Given the description of an element on the screen output the (x, y) to click on. 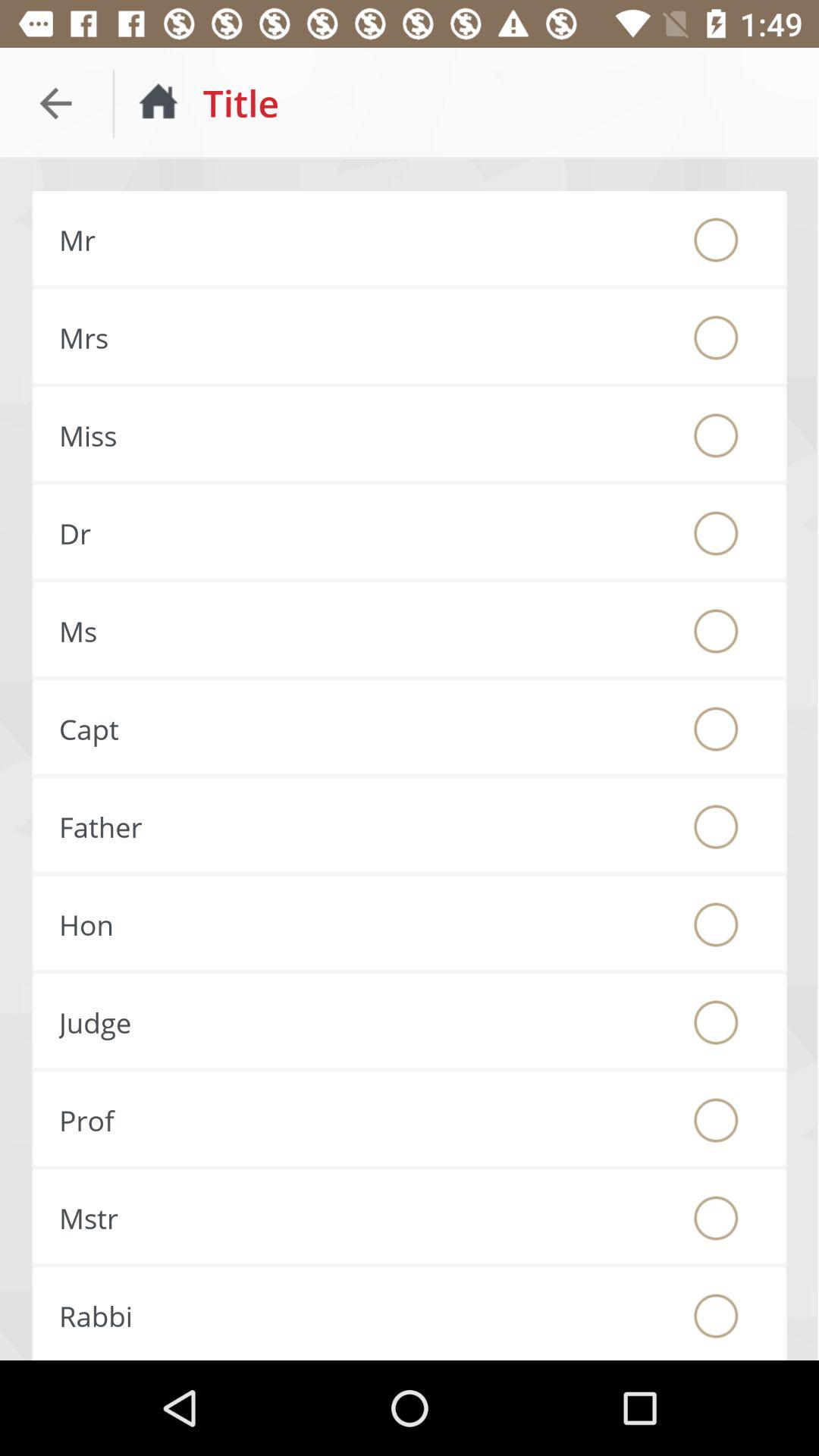
title selection (715, 435)
